Given the description of an element on the screen output the (x, y) to click on. 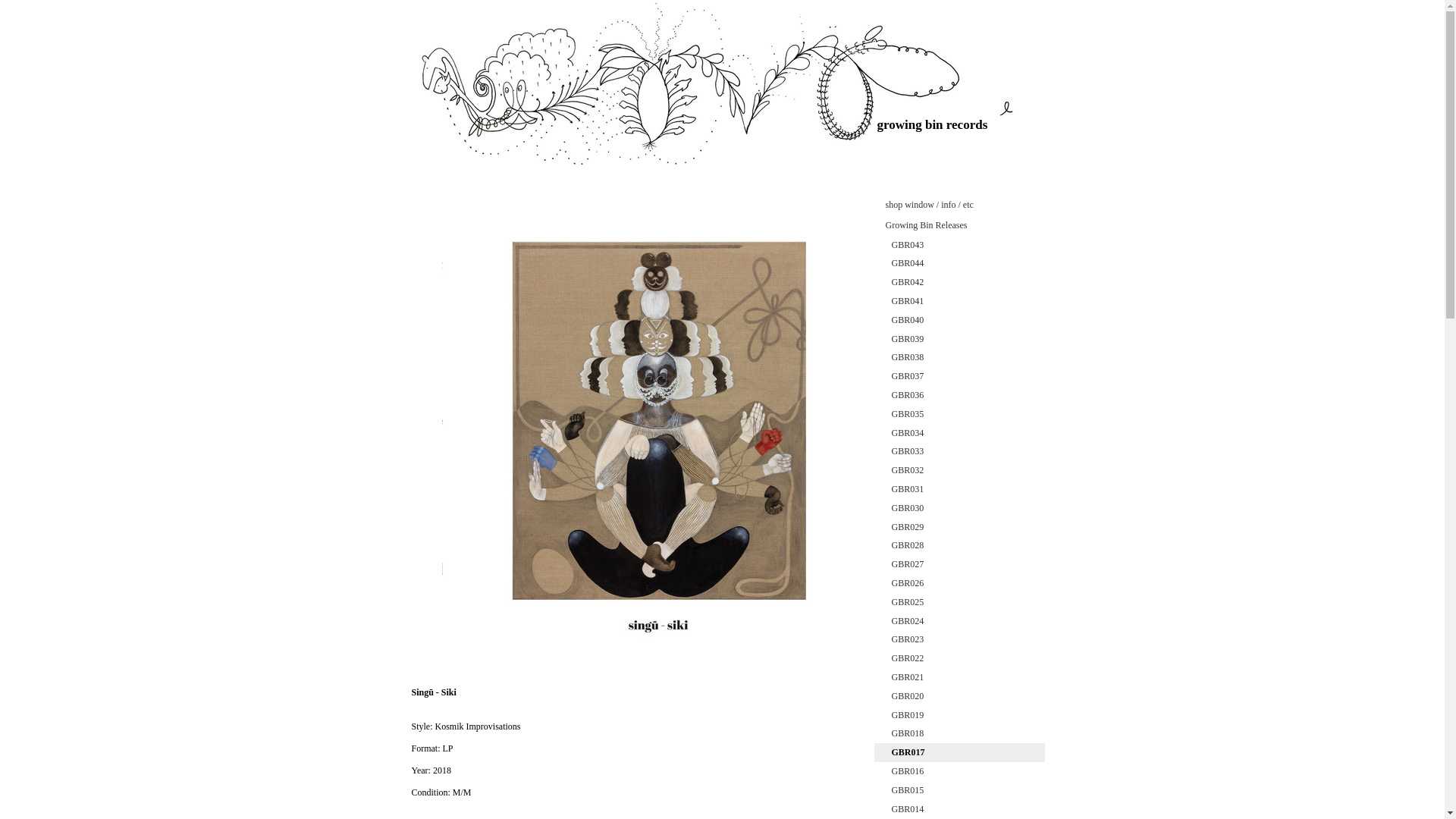
GBR022 (958, 658)
GBR024 (958, 620)
GBR014 (958, 808)
GBR017 (958, 752)
growing bin records (722, 164)
GBR029 (958, 527)
GBR035 (958, 414)
GBR041 (958, 301)
GBR020 (958, 696)
Growing Bin Releases (958, 225)
GBR016 (958, 771)
GBR018 (958, 732)
GBR038 (958, 357)
GBR036 (958, 394)
GBR033 (958, 451)
